Given the description of an element on the screen output the (x, y) to click on. 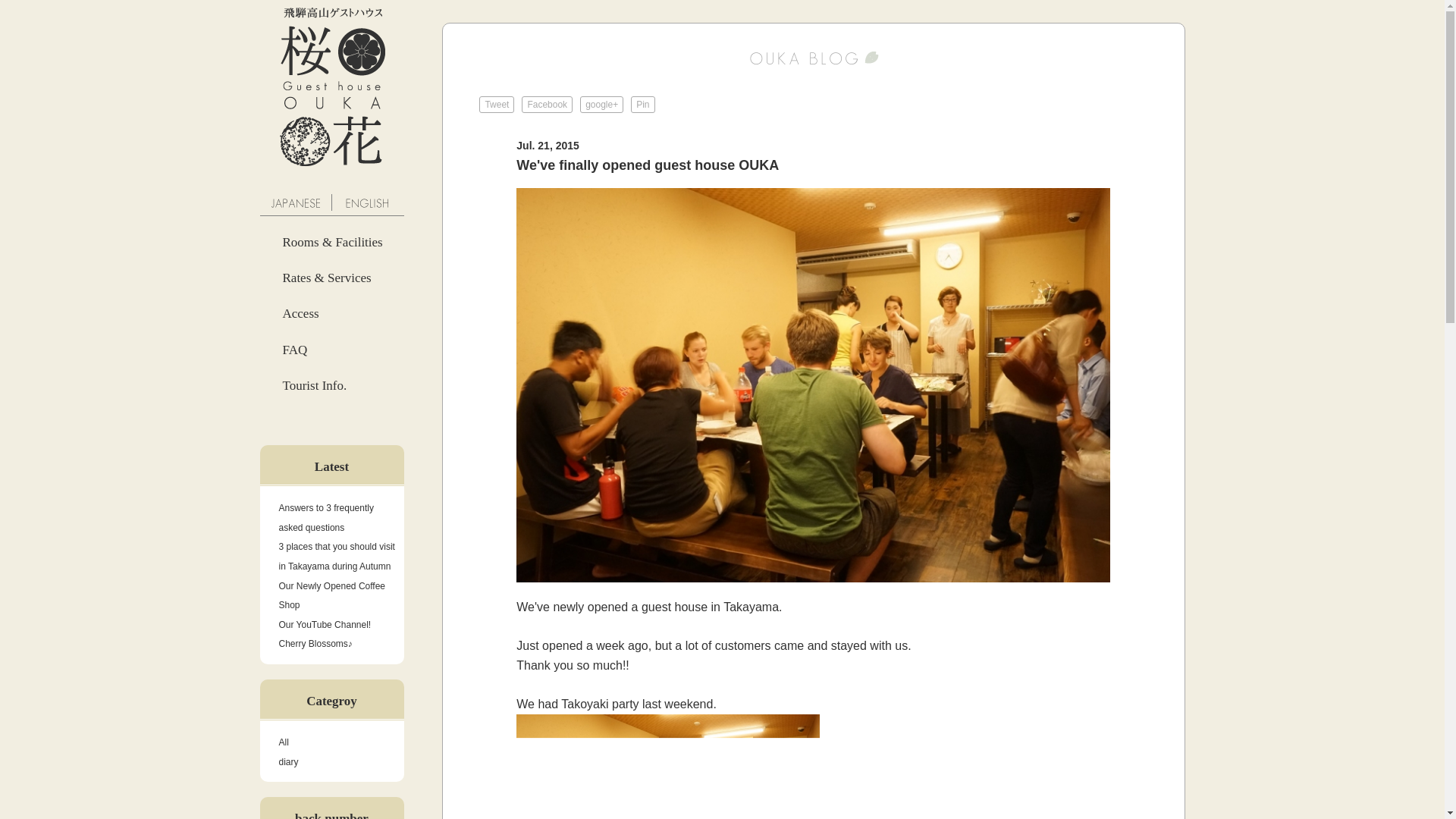
Facebook (546, 104)
Pin (641, 104)
Tweet (496, 104)
Our Newly Opened Coffee Shop (332, 595)
Tourist Info. (302, 385)
All (283, 742)
FAQ (283, 350)
Access (288, 313)
diary (288, 761)
Answers to 3 frequently asked questions (326, 517)
